Given the description of an element on the screen output the (x, y) to click on. 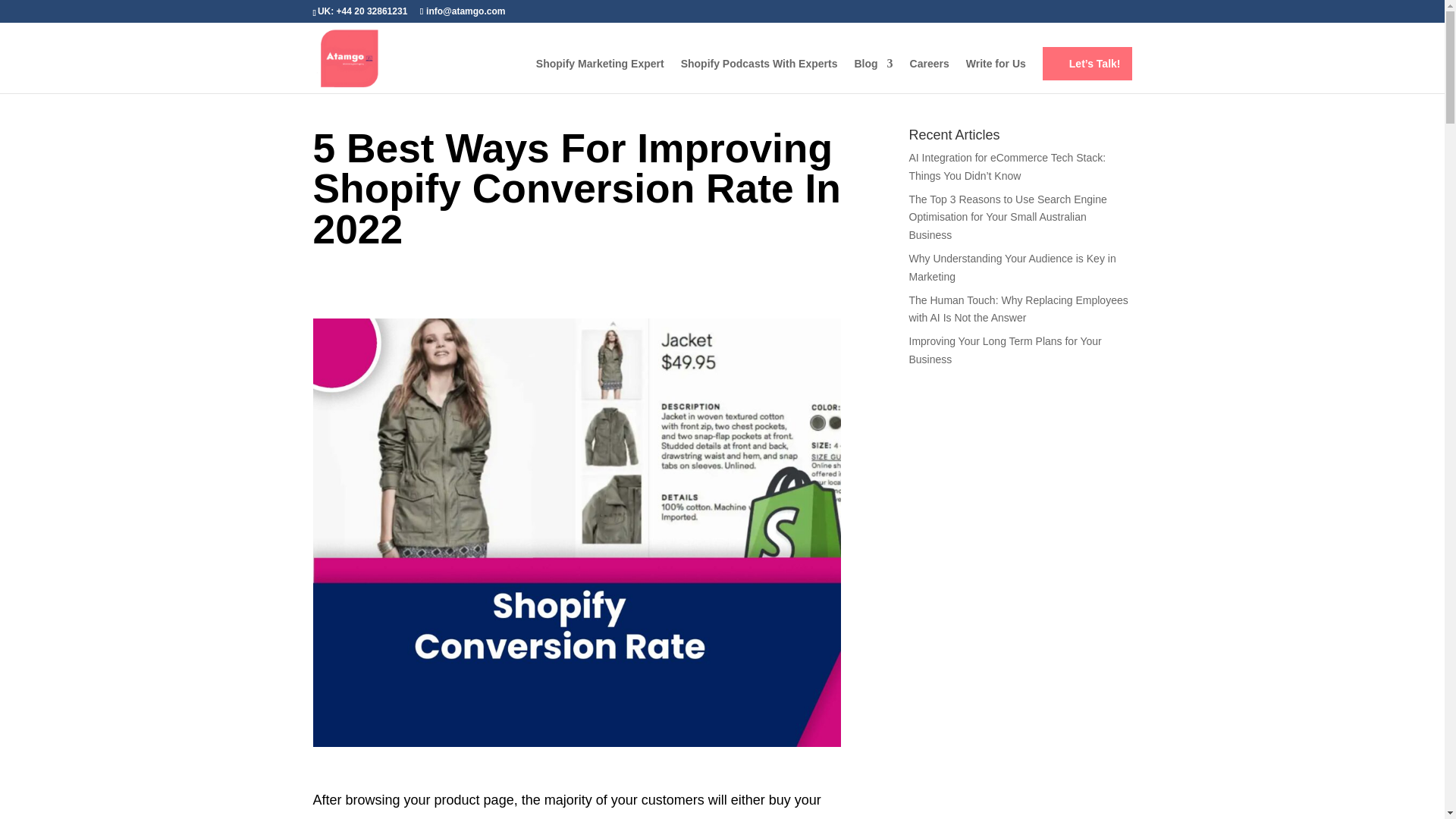
Careers (929, 75)
Why Understanding Your Audience is Key in Marketing (1011, 267)
Shopify Podcasts With Experts (759, 75)
Write for Us (996, 75)
Improving Your Long Term Plans for Your Business (1004, 349)
Blog (872, 75)
Shopify Marketing Expert (599, 75)
